Given the description of an element on the screen output the (x, y) to click on. 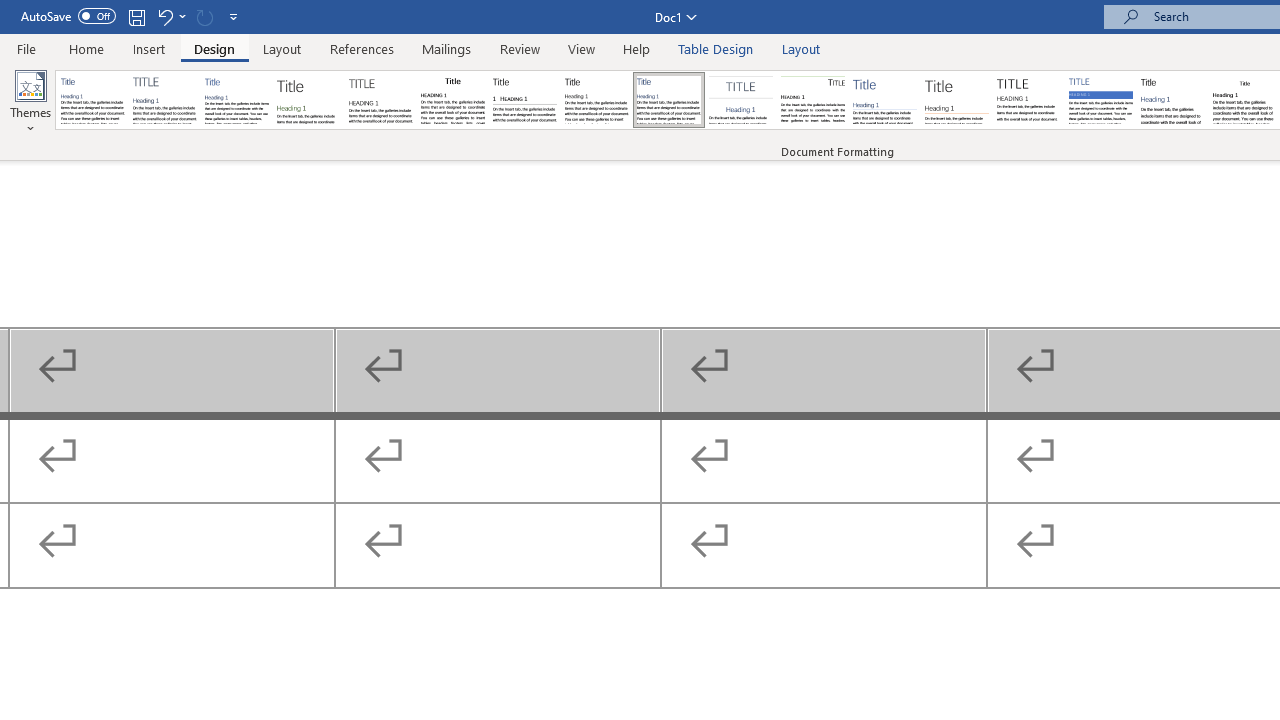
Centered (740, 100)
Basic (Elegant) (164, 100)
Black & White (Numbered) (524, 100)
Shaded (1100, 100)
Black & White (Capitalized) (381, 100)
Lines (Simple) (884, 100)
Black & White (Classic) (452, 100)
Document (93, 100)
